Given the description of an element on the screen output the (x, y) to click on. 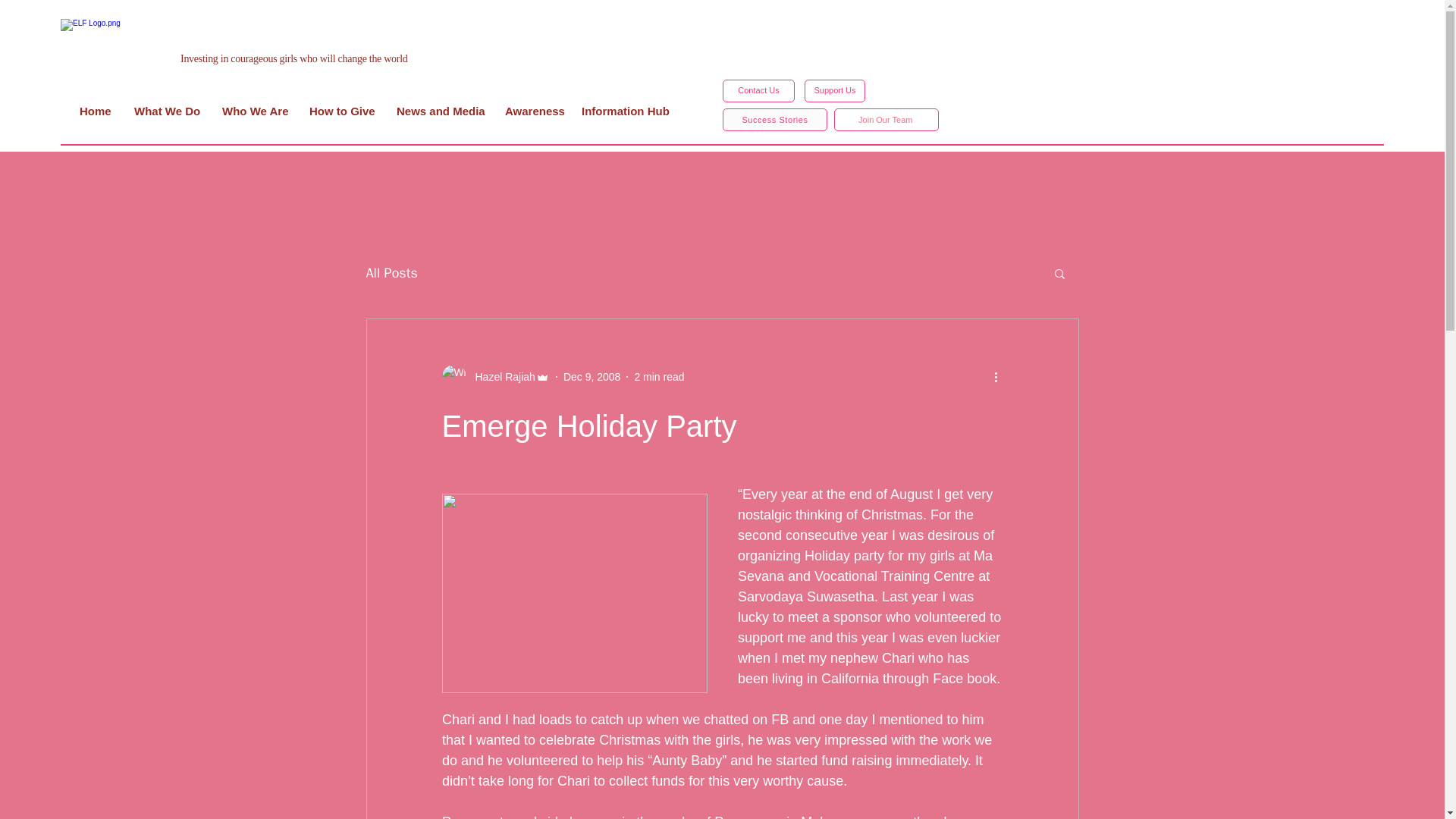
What We Do (165, 110)
Awareness (531, 110)
How to Give (341, 110)
All Posts (390, 272)
Join Our Team (886, 119)
Hazel Rajiah (494, 376)
News and Media (439, 110)
Dec 9, 2008 (592, 376)
Information Hub (622, 110)
Support Us (834, 90)
2 min read (658, 376)
Success Stories (774, 119)
Who We Are (254, 110)
Hazel Rajiah (499, 376)
Home (95, 110)
